Given the description of an element on the screen output the (x, y) to click on. 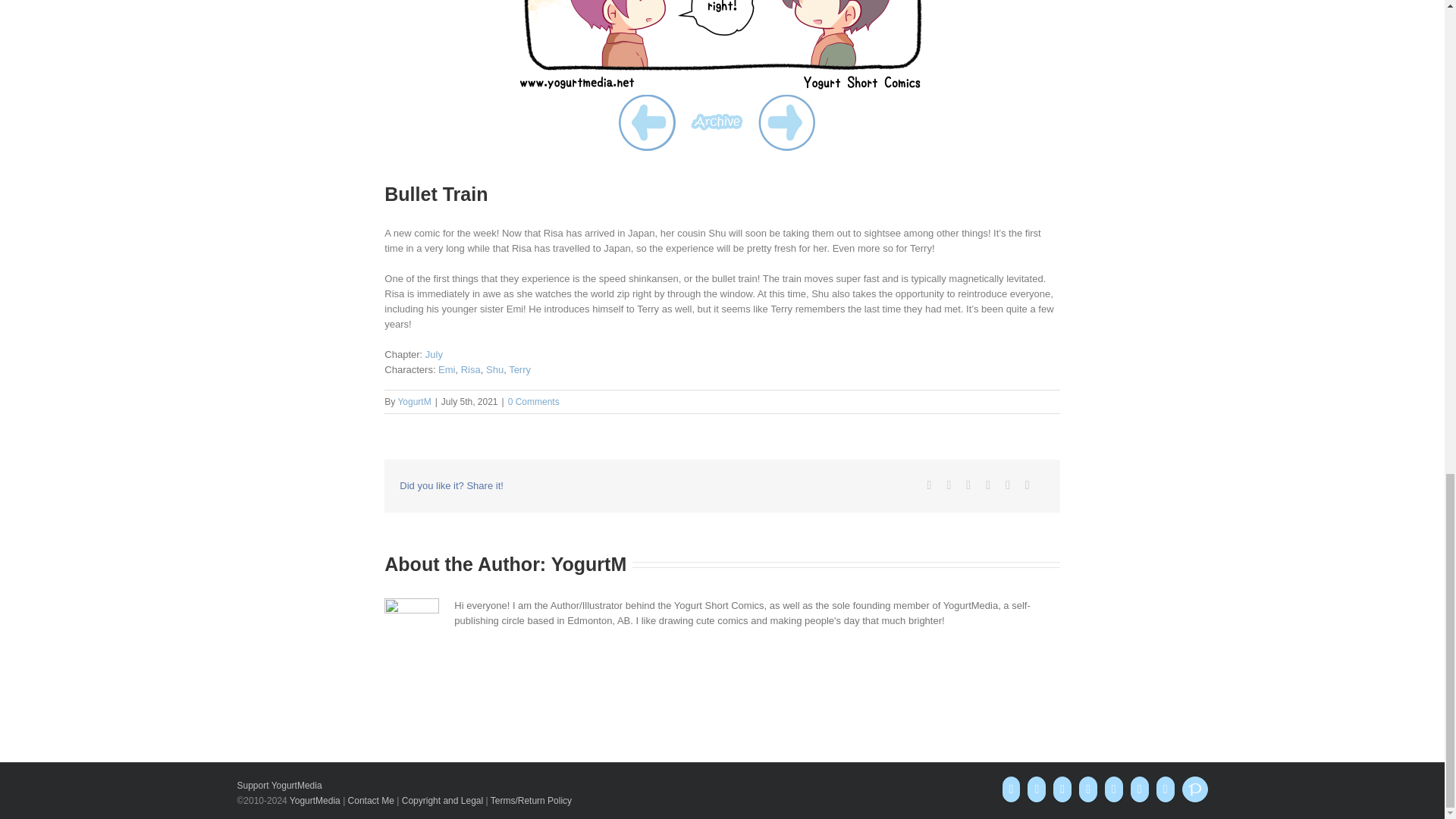
Bullet Train (721, 47)
Posts by YogurtM (589, 563)
Posts by YogurtM (413, 401)
